Given the description of an element on the screen output the (x, y) to click on. 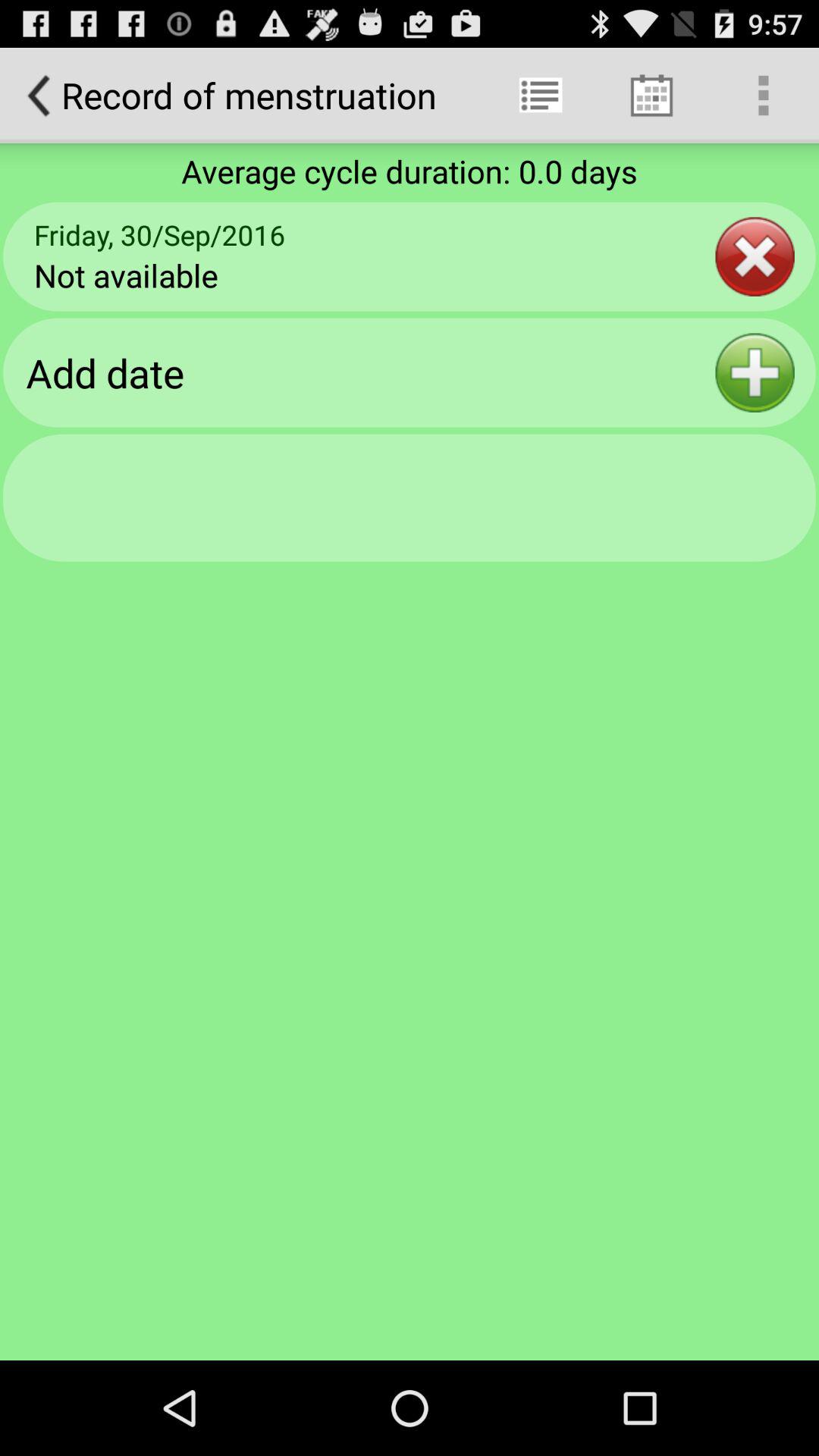
x button (754, 256)
